Given the description of an element on the screen output the (x, y) to click on. 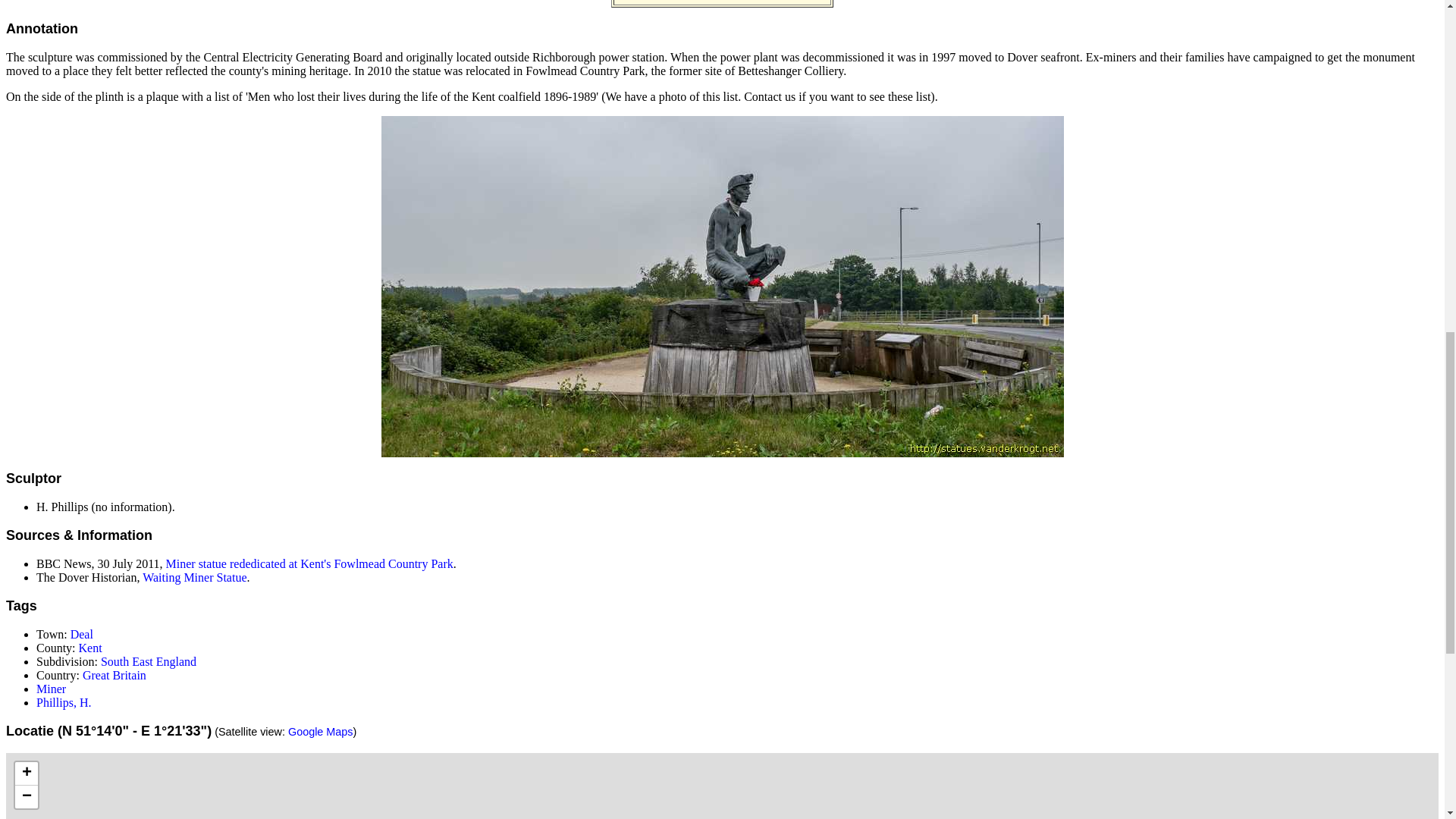
South East England (148, 661)
Great Britain (114, 675)
Kent (89, 647)
Miner statue rededicated at Kent's Fowlmead Country Park (308, 563)
Miner (50, 688)
Phillips, H. (63, 702)
Waiting Miner Statue (194, 576)
Zoom out (25, 796)
Deal (81, 634)
Zoom in (25, 773)
Google Maps (320, 731)
